Given the description of an element on the screen output the (x, y) to click on. 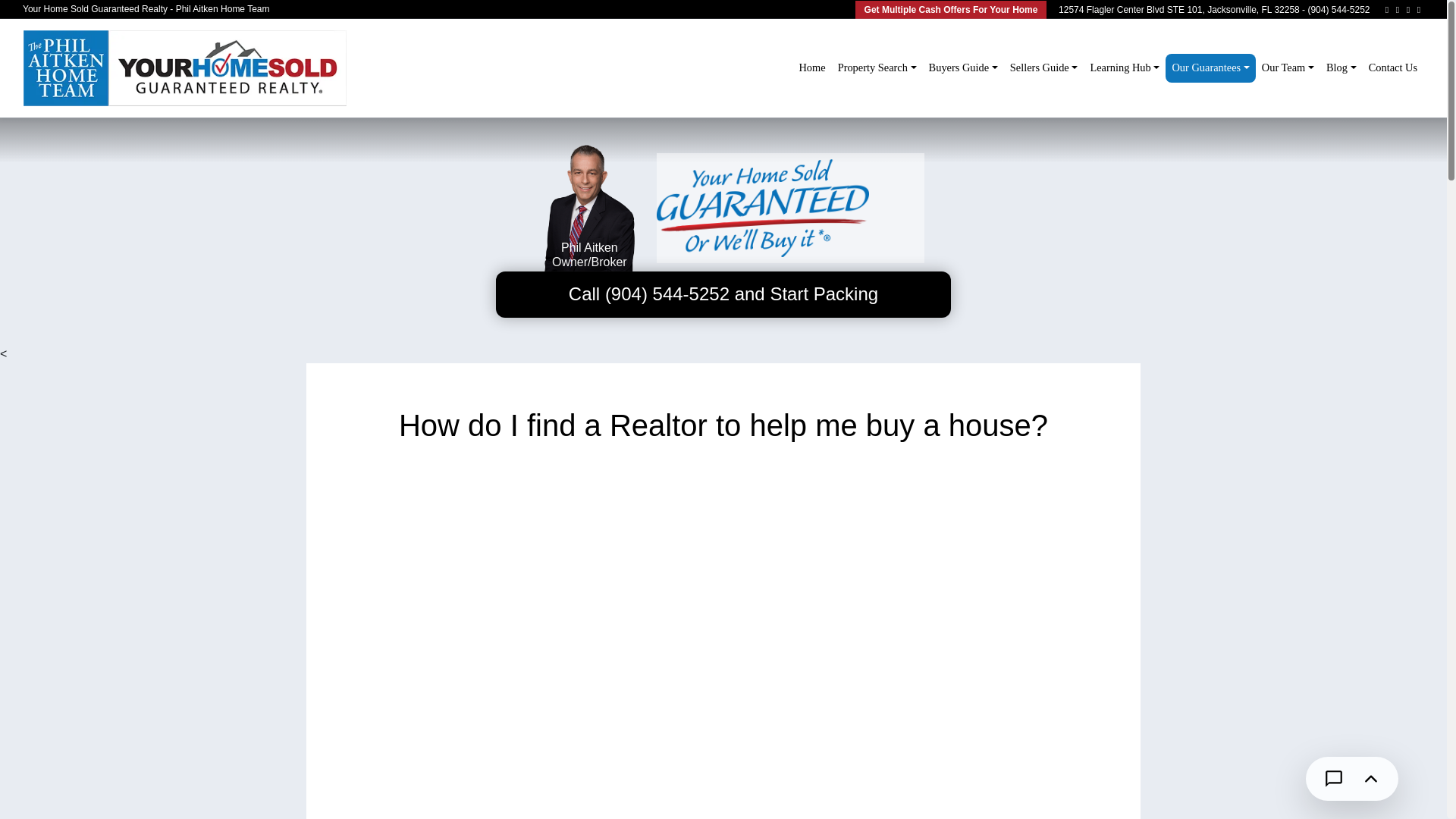
Our Guarantees (1210, 68)
Home (811, 68)
Buyers Guide (963, 68)
Learning Hub (1124, 68)
Get Multiple Cash Offers For Your Home (951, 9)
Buyers Guide (963, 68)
12574 Flagler Center Blvd STE 101, Jacksonville, FL 32258 (1179, 9)
Learning Hub (1124, 68)
Home (811, 68)
Property Search (877, 68)
